Given the description of an element on the screen output the (x, y) to click on. 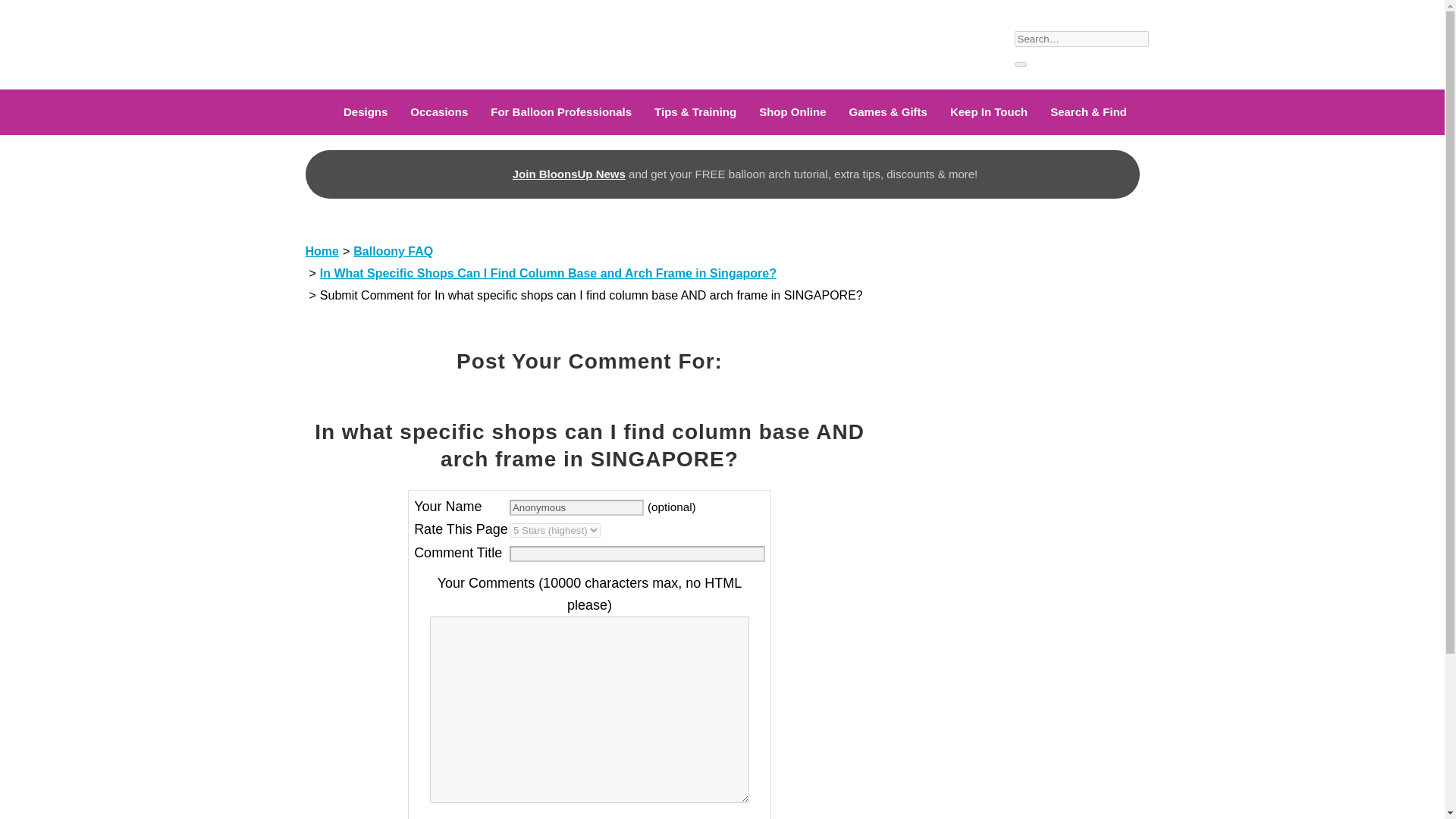
BloonsUp.com (353, 42)
Anonymous (576, 507)
